Given the description of an element on the screen output the (x, y) to click on. 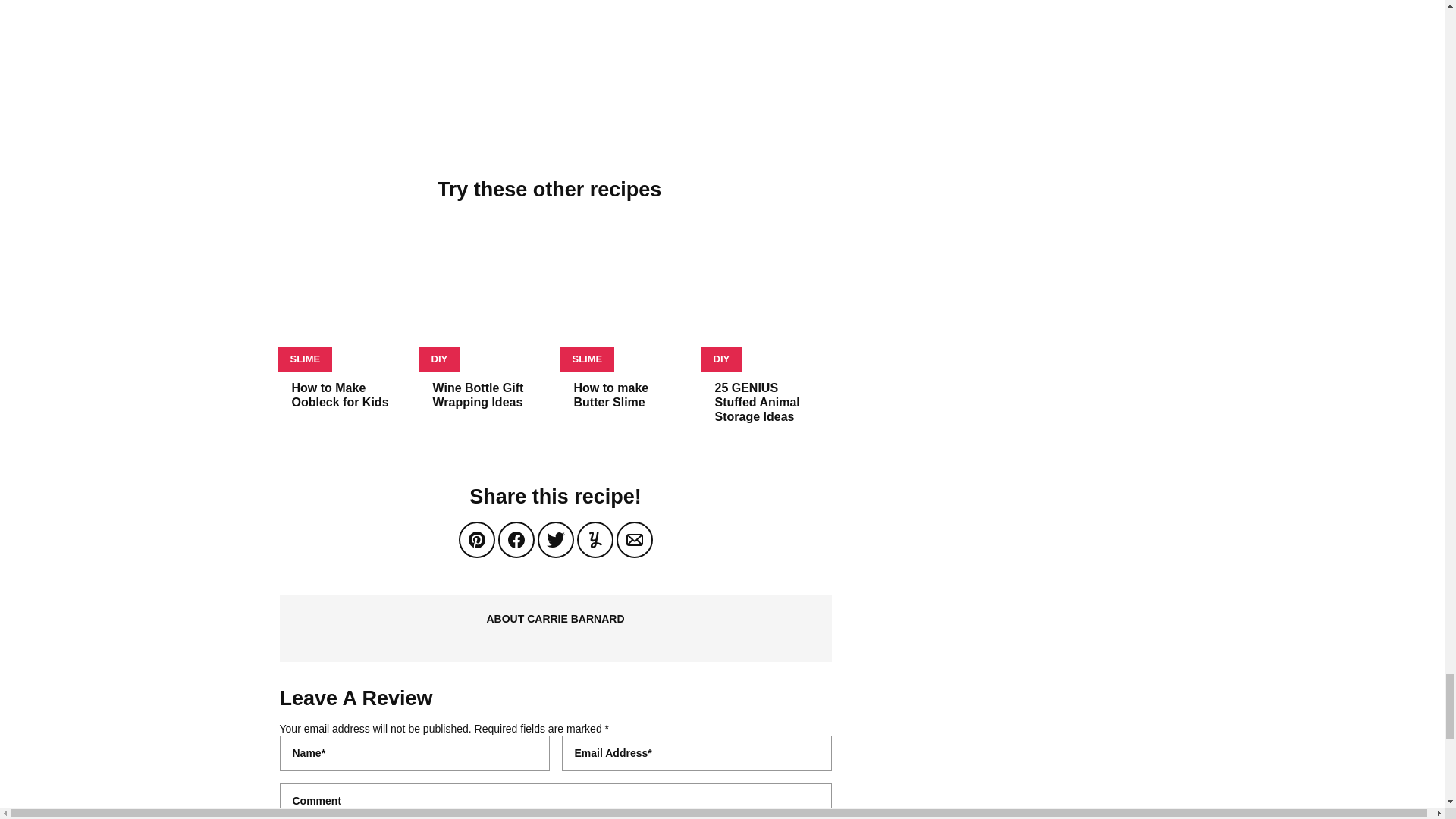
Share on Yummly (594, 539)
How to Make Oobleck for Kids (339, 394)
Share on Facebook (515, 539)
Share on Pinterest (476, 539)
Share via Email (633, 539)
Share on Twitter (555, 539)
Wine Bottle Gift Wrapping Ideas (477, 394)
